Given the description of an element on the screen output the (x, y) to click on. 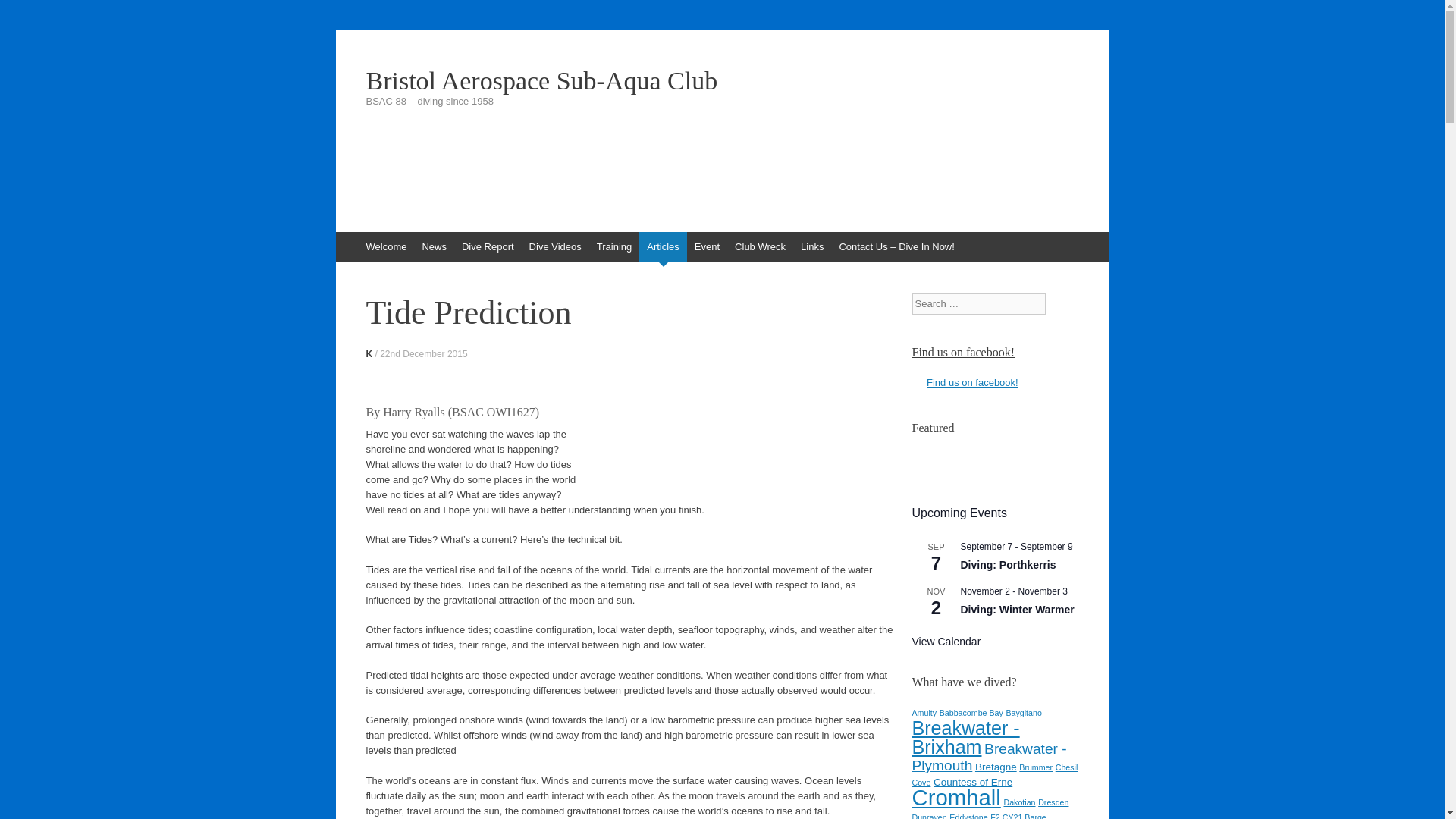
Skip to content (342, 238)
Welcome (385, 246)
Bristol Aerospace Sub-Aqua Club (721, 80)
Bristol Aerospace Sub-Aqua Club (721, 80)
News (433, 246)
